Given the description of an element on the screen output the (x, y) to click on. 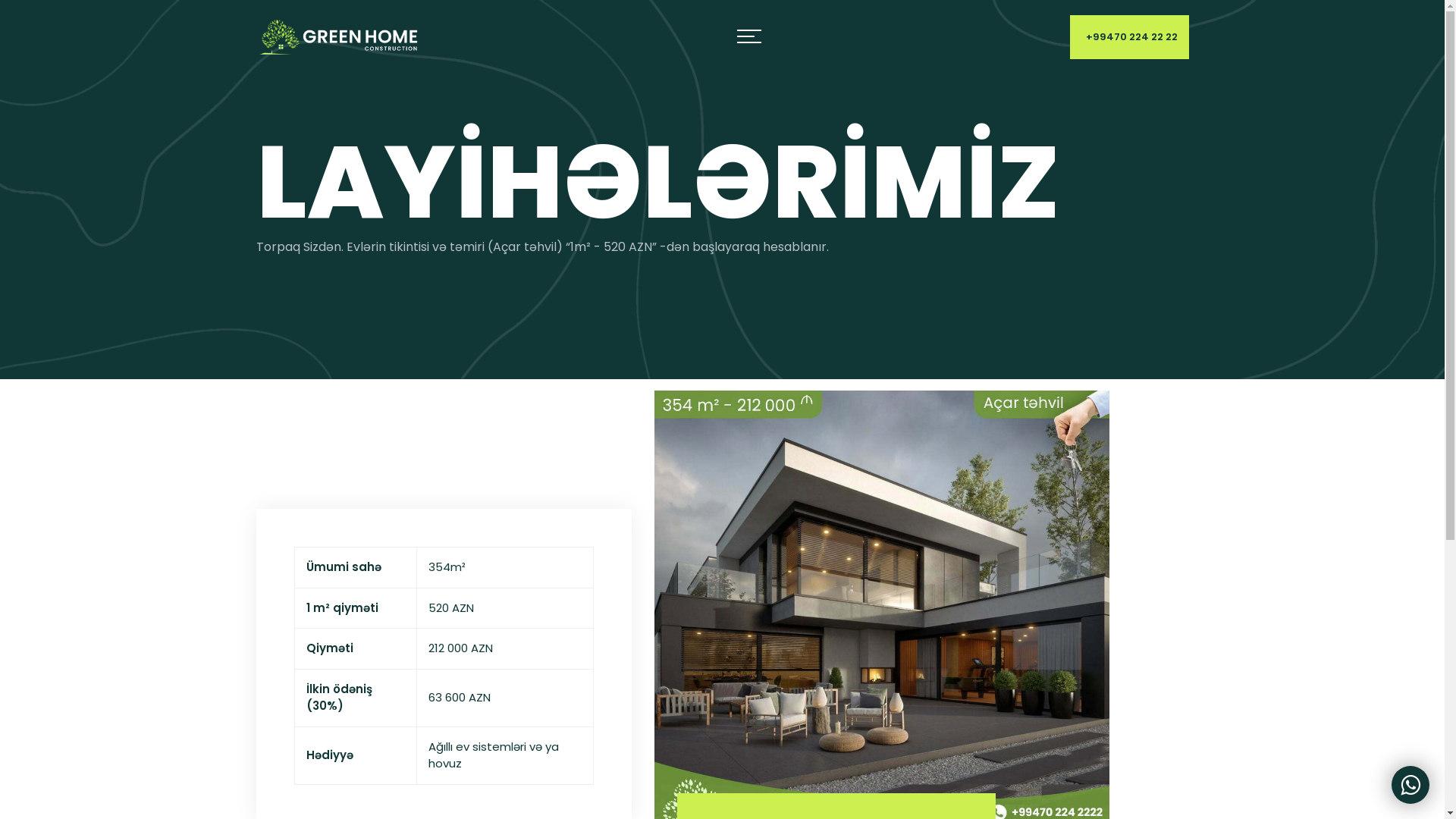
AXTAR Element type: text (722, 446)
+99470 224 22 22 Element type: text (1128, 37)
